Given the description of an element on the screen output the (x, y) to click on. 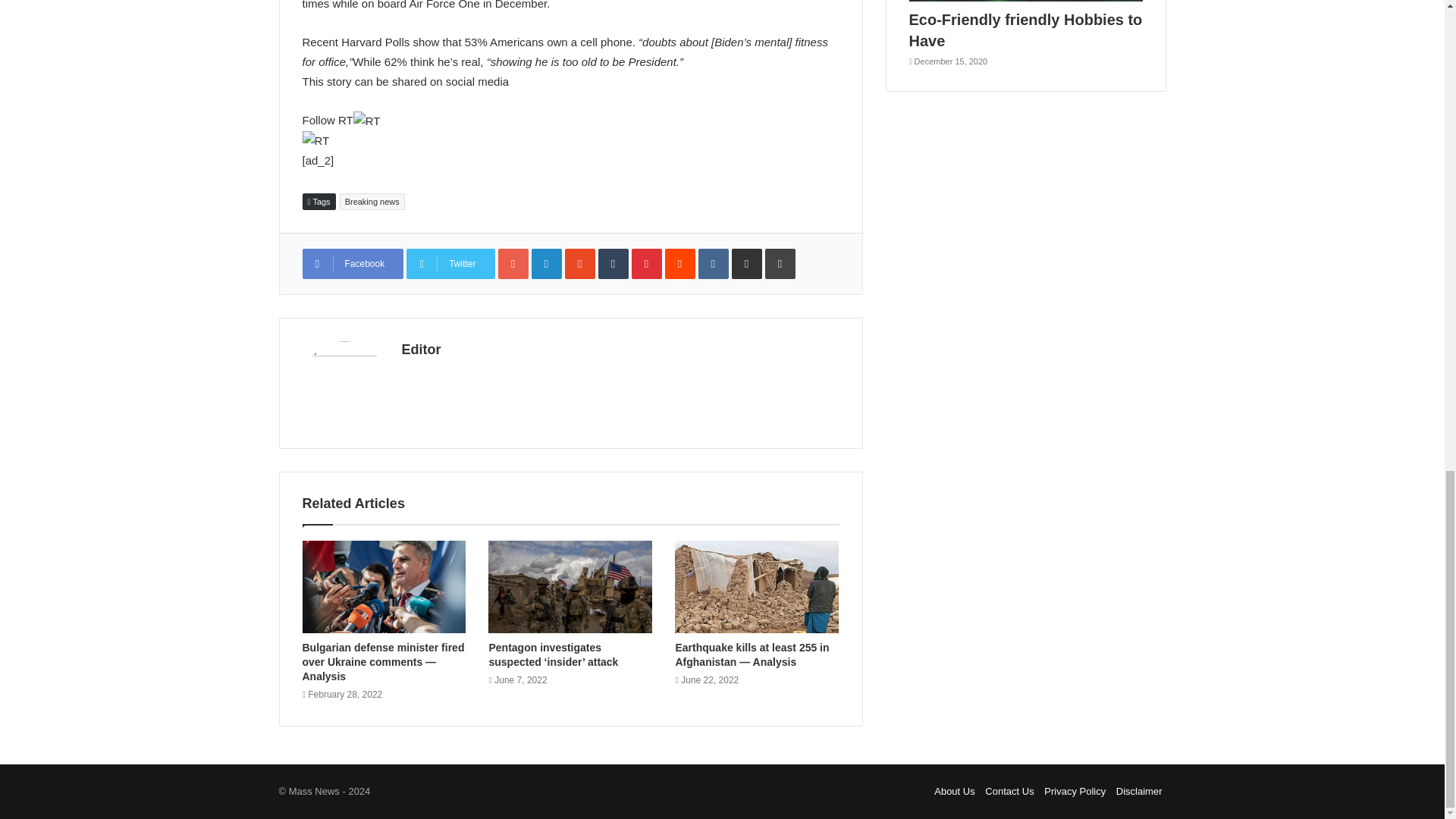
Share via Email (746, 263)
Editor (421, 349)
Reddit (680, 263)
LinkedIn (546, 263)
StumbleUpon (579, 263)
Twitter (450, 263)
Pinterest (646, 263)
Tumblr (613, 263)
Breaking news (371, 201)
Print (779, 263)
